Given the description of an element on the screen output the (x, y) to click on. 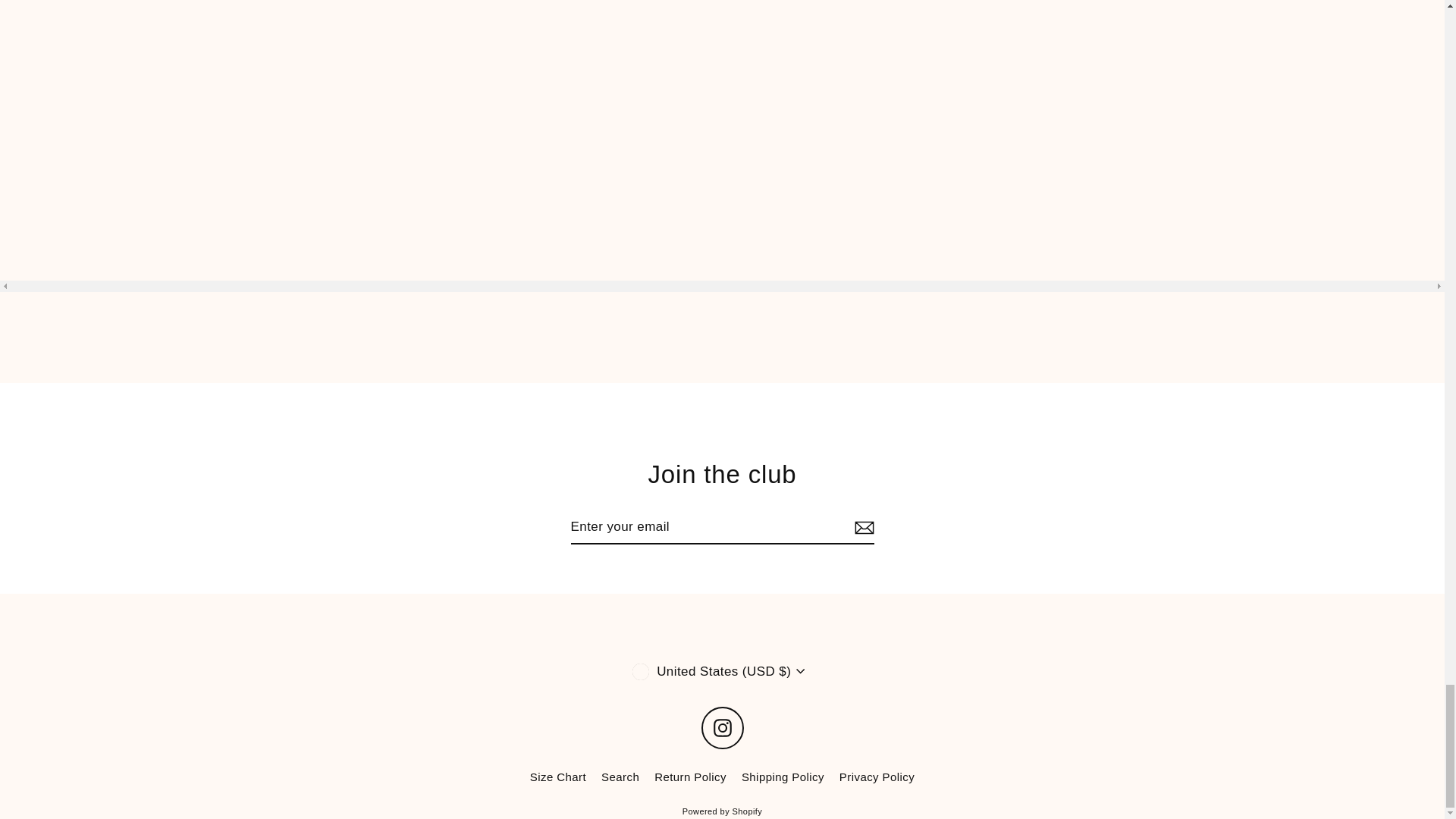
Curverra on Instagram (721, 727)
